Given the description of an element on the screen output the (x, y) to click on. 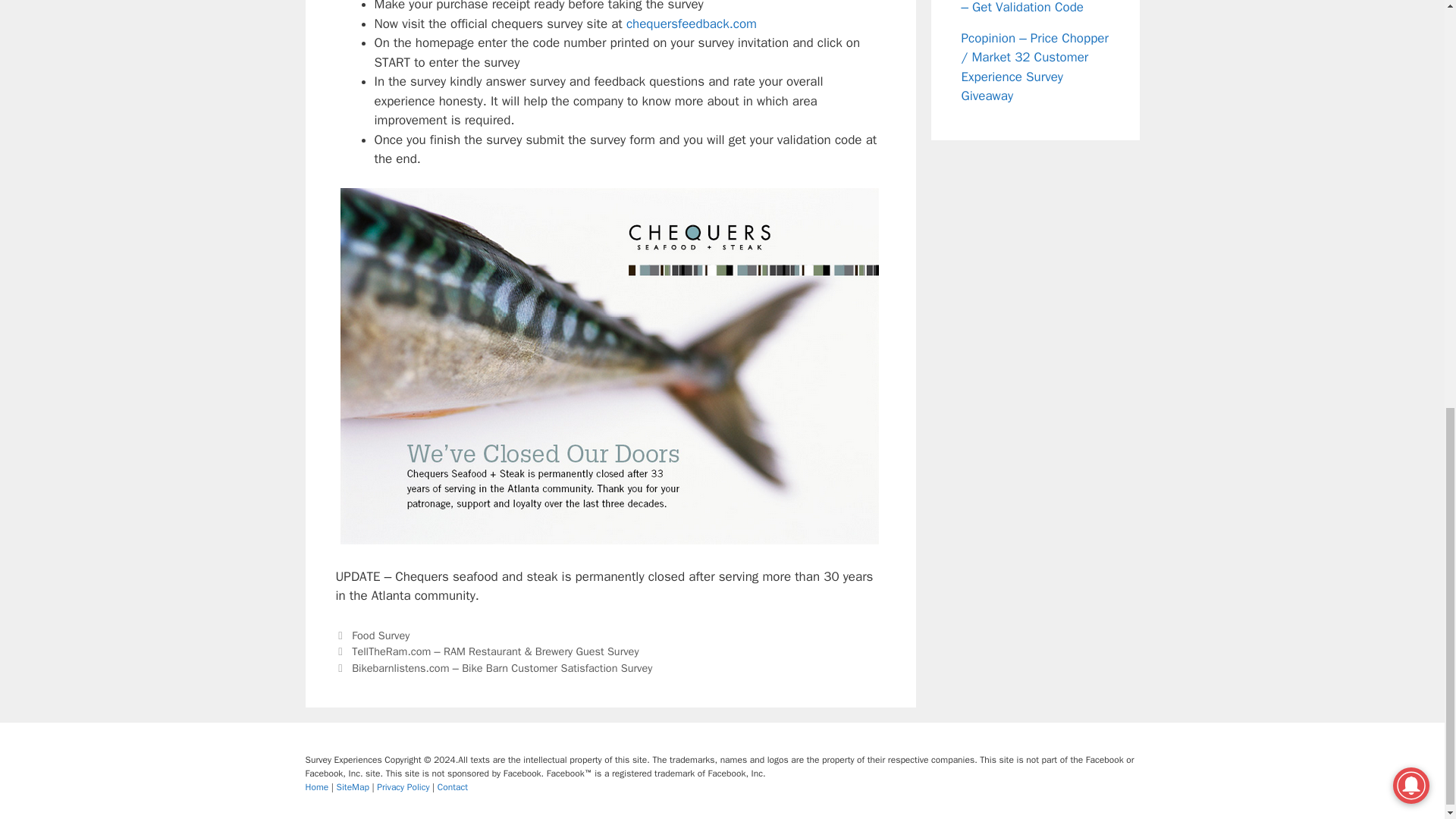
Contact (452, 787)
Food Survey (380, 635)
Privacy Policy (404, 787)
Home (317, 787)
chequersfeedback.com (691, 23)
SiteMap (354, 787)
